Given the description of an element on the screen output the (x, y) to click on. 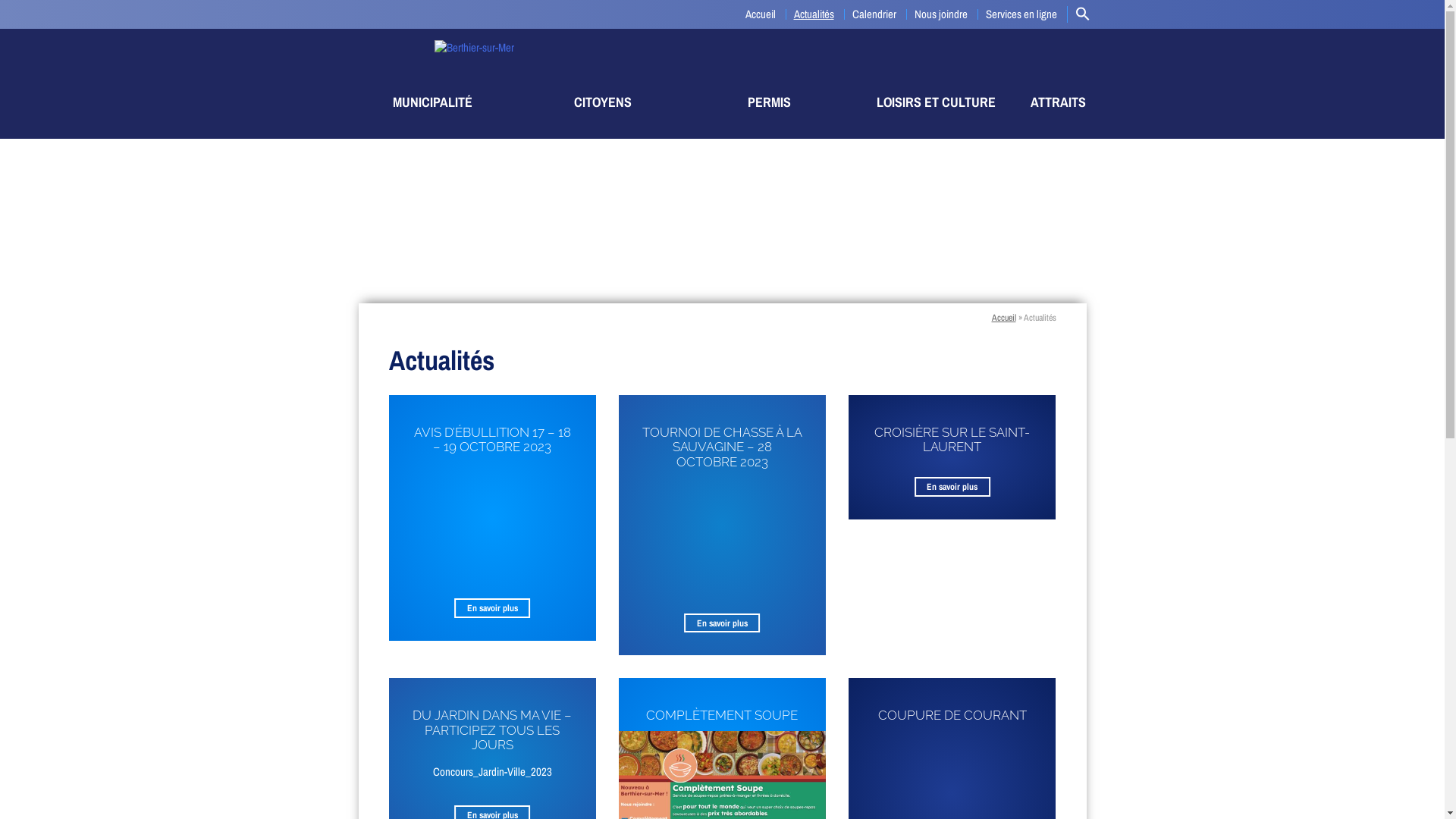
Attraits Element type: text (1330, 212)
CITOYENS Element type: text (602, 102)
Accueil Element type: text (1330, 110)
Nous joindre Element type: text (1330, 288)
Nous joindre Element type: text (940, 14)
Citoyens Element type: text (1330, 161)
En savoir plus Element type: text (952, 486)
En savoir plus Element type: text (492, 608)
COUPURE DE COURANT Element type: text (952, 714)
Calendrier Element type: text (1330, 263)
En savoir plus Element type: text (722, 623)
Berthier-sur-Mer Element type: hover (464, 47)
Services en ligne Element type: text (1021, 14)
Services en ligne Element type: text (1330, 313)
Accueil Element type: text (1003, 317)
PERMIS Element type: text (769, 102)
ATTRAITS Element type: text (1058, 102)
Loisirs Element type: text (1330, 187)
LOISIRS ET CULTURE Element type: text (935, 102)
Accueil Element type: text (759, 14)
Calendrier Element type: text (873, 14)
